Given the description of an element on the screen output the (x, y) to click on. 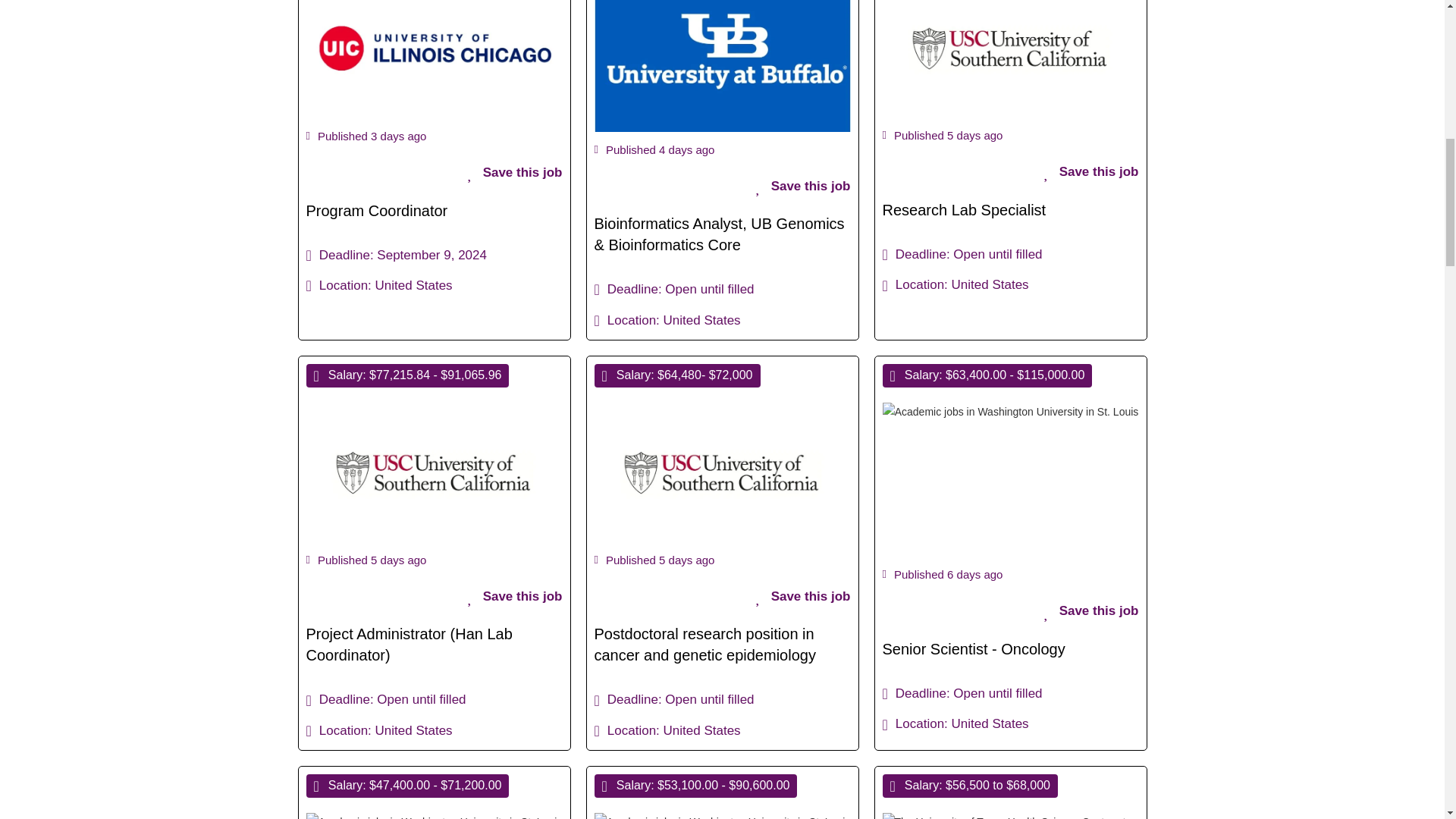
Save this job (514, 597)
Save this job (1090, 172)
Save this job (802, 187)
Save this job (514, 173)
Save this job (802, 597)
